Given the description of an element on the screen output the (x, y) to click on. 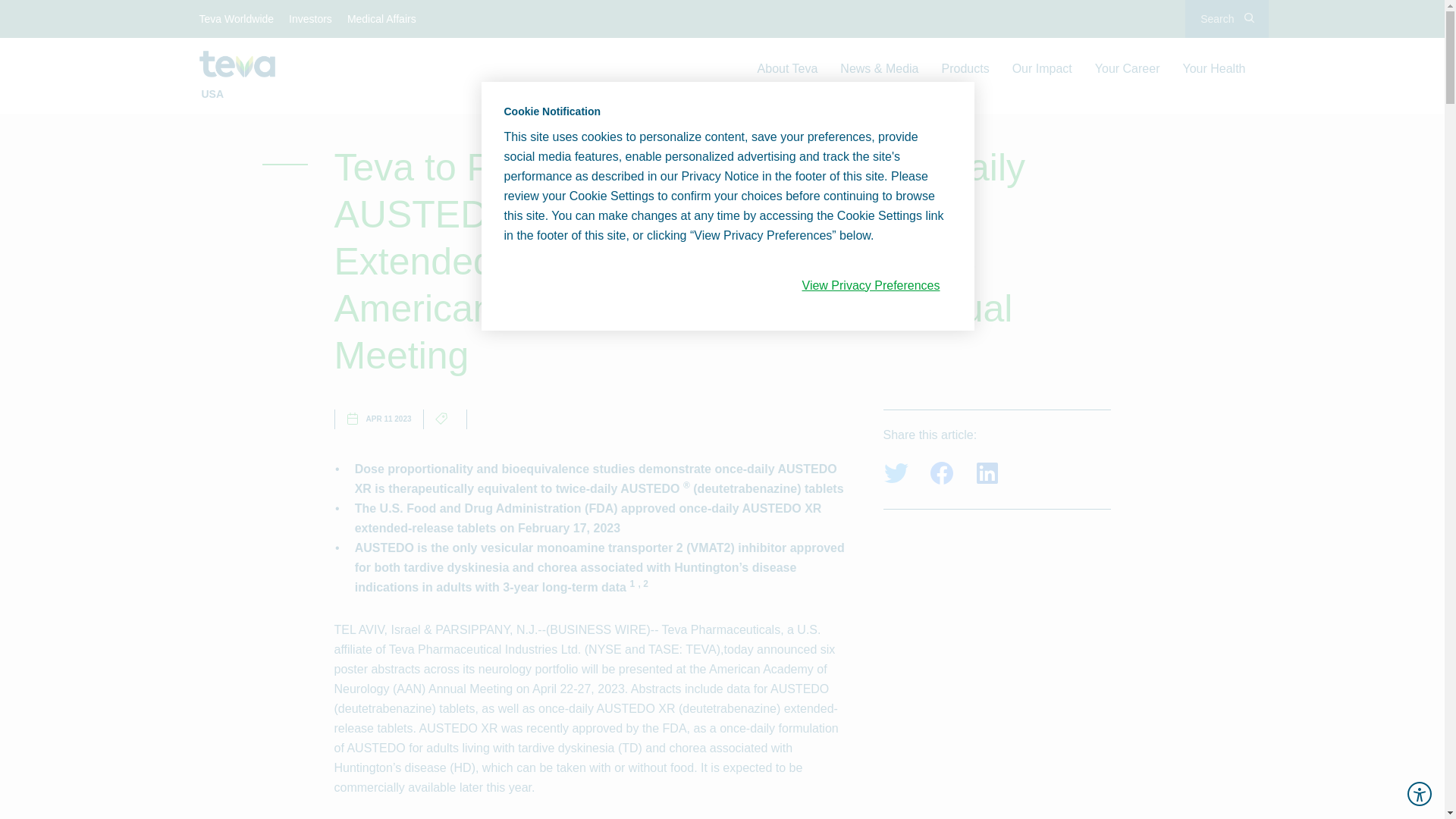
Teva Worldwide (236, 18)
About Teva (787, 68)
Teva USA (236, 63)
Medical Affairs (381, 18)
Investors (310, 18)
Search (1226, 18)
Share on LinkedIn (986, 473)
Products (965, 68)
Share on Facebook (940, 473)
Share on Twitter (895, 473)
